Given the description of an element on the screen output the (x, y) to click on. 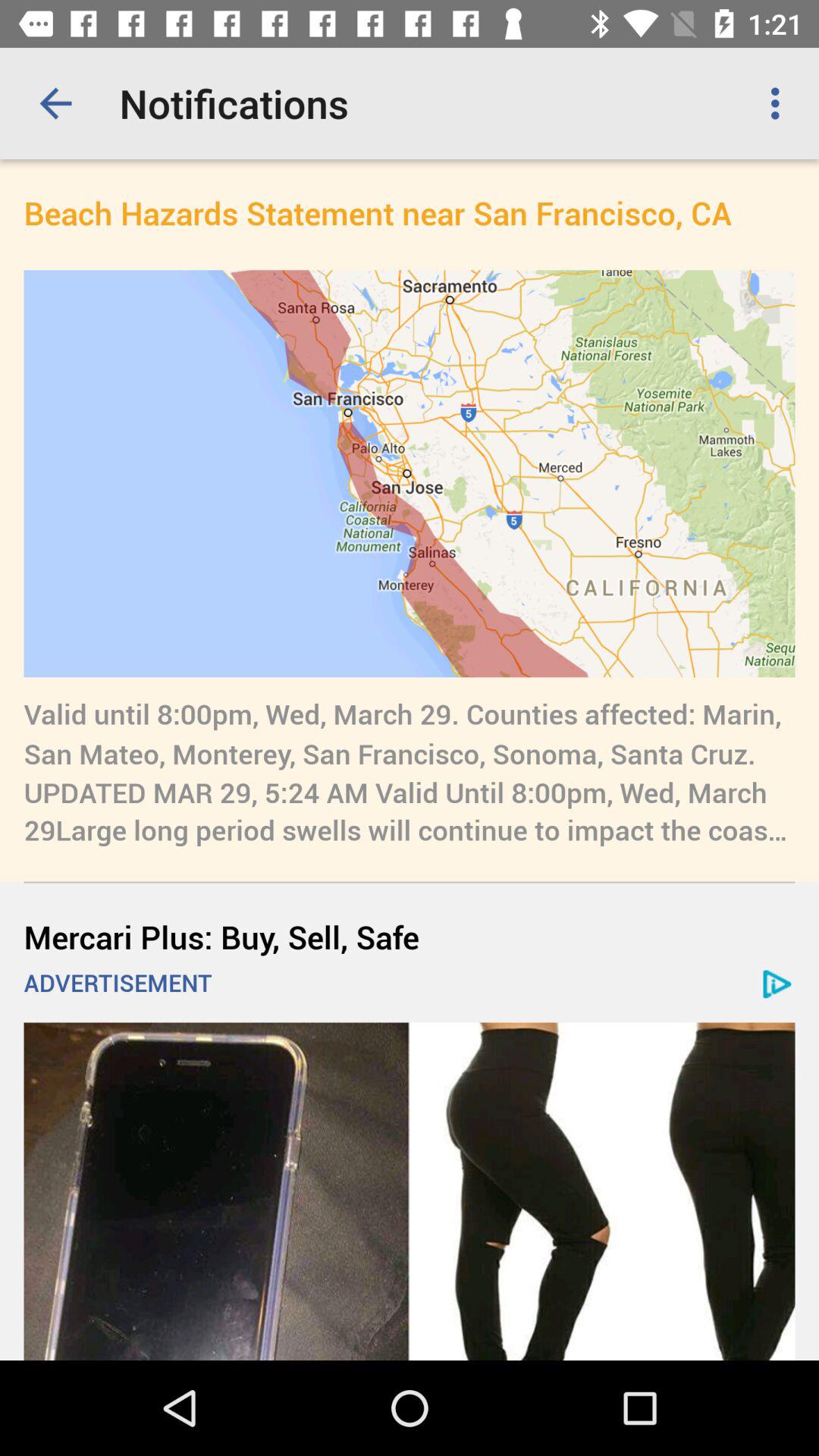
go to advertisement page (409, 1191)
